Given the description of an element on the screen output the (x, y) to click on. 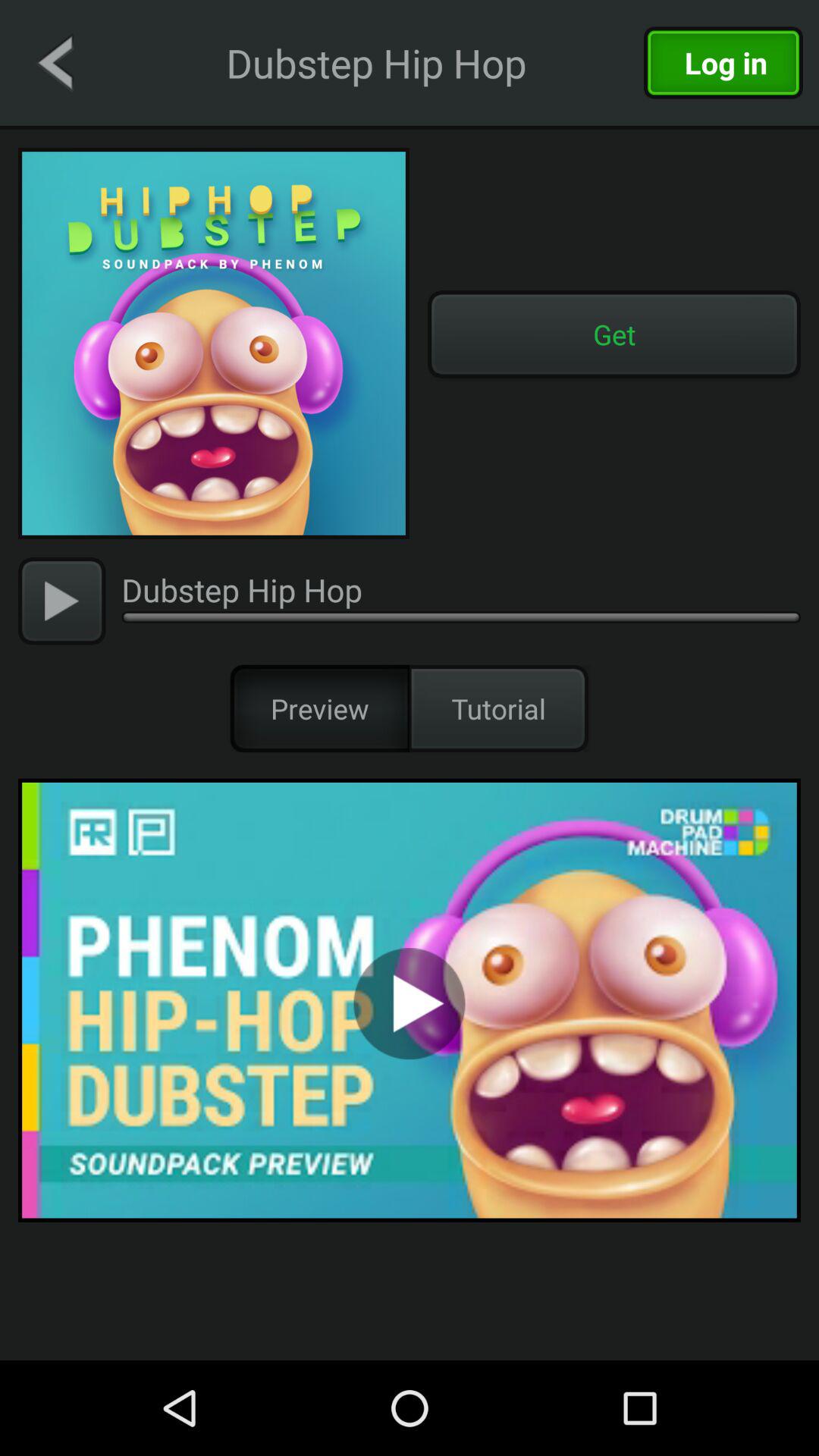
tap item to the left of the dubstep hip hop icon (61, 600)
